Given the description of an element on the screen output the (x, y) to click on. 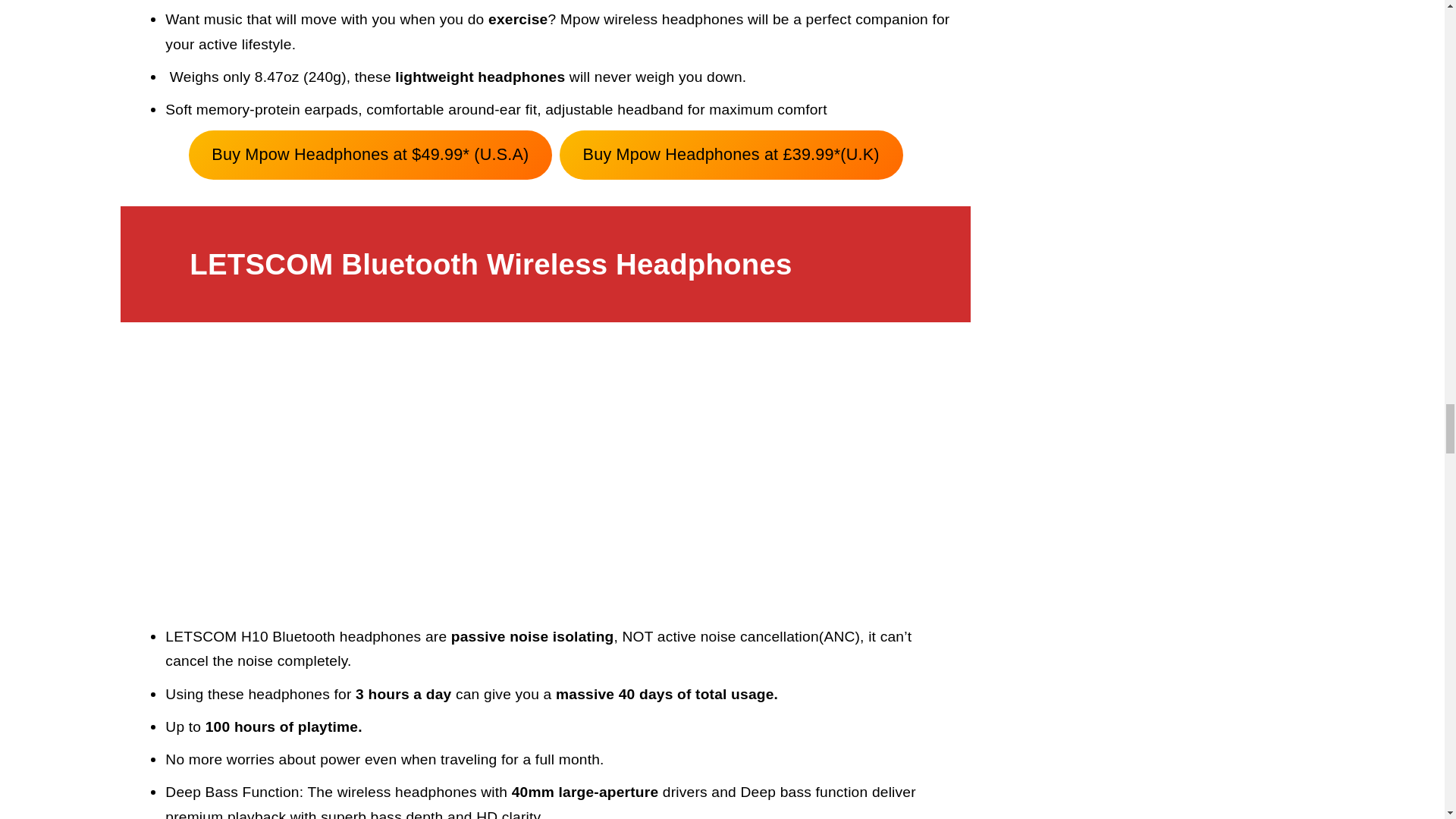
Best Selling and Top Trending WIRELESS HEADPHONES 6 (545, 476)
